Given the description of an element on the screen output the (x, y) to click on. 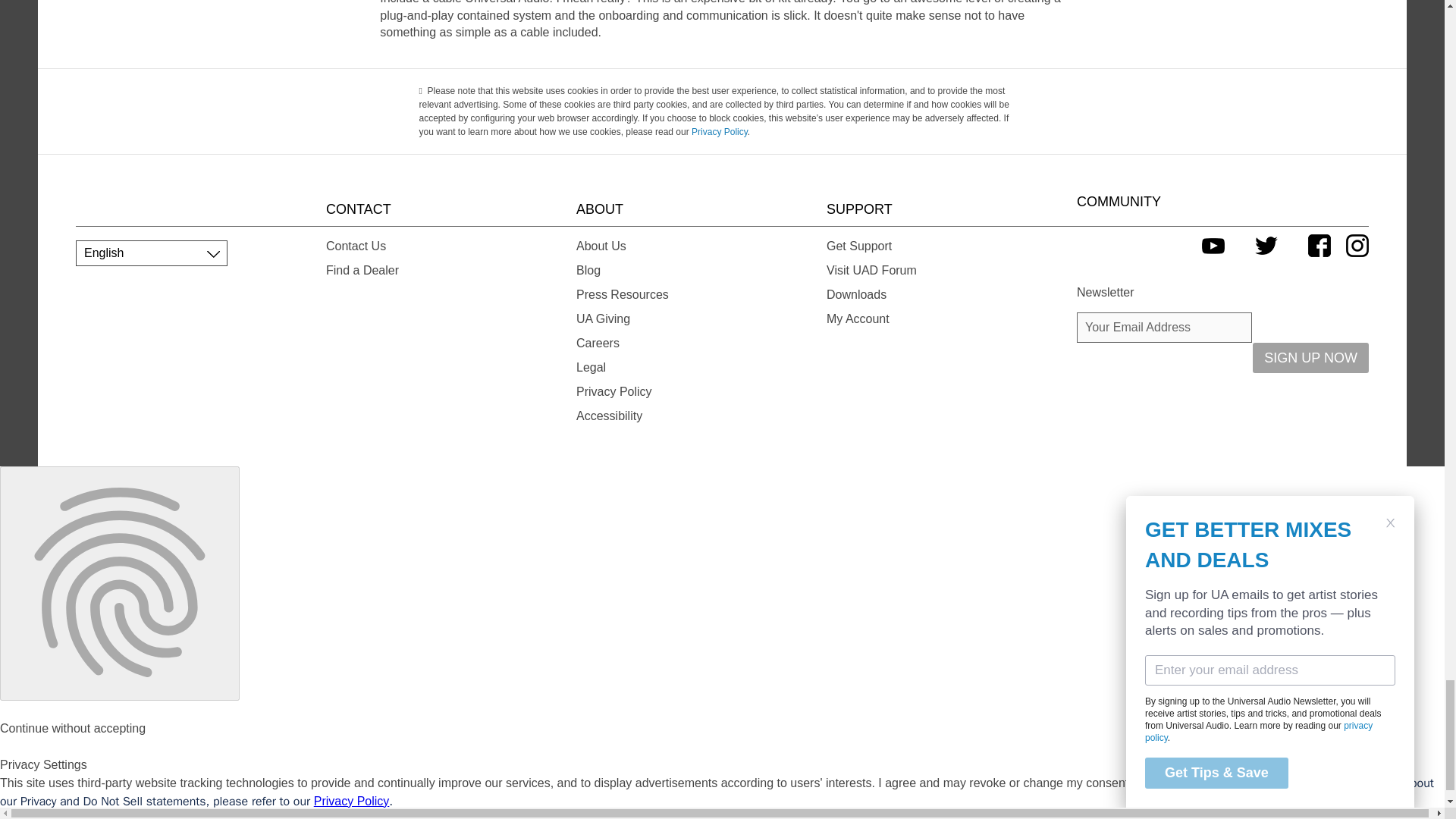
SIGN UP NOW (1310, 358)
